Given the description of an element on the screen output the (x, y) to click on. 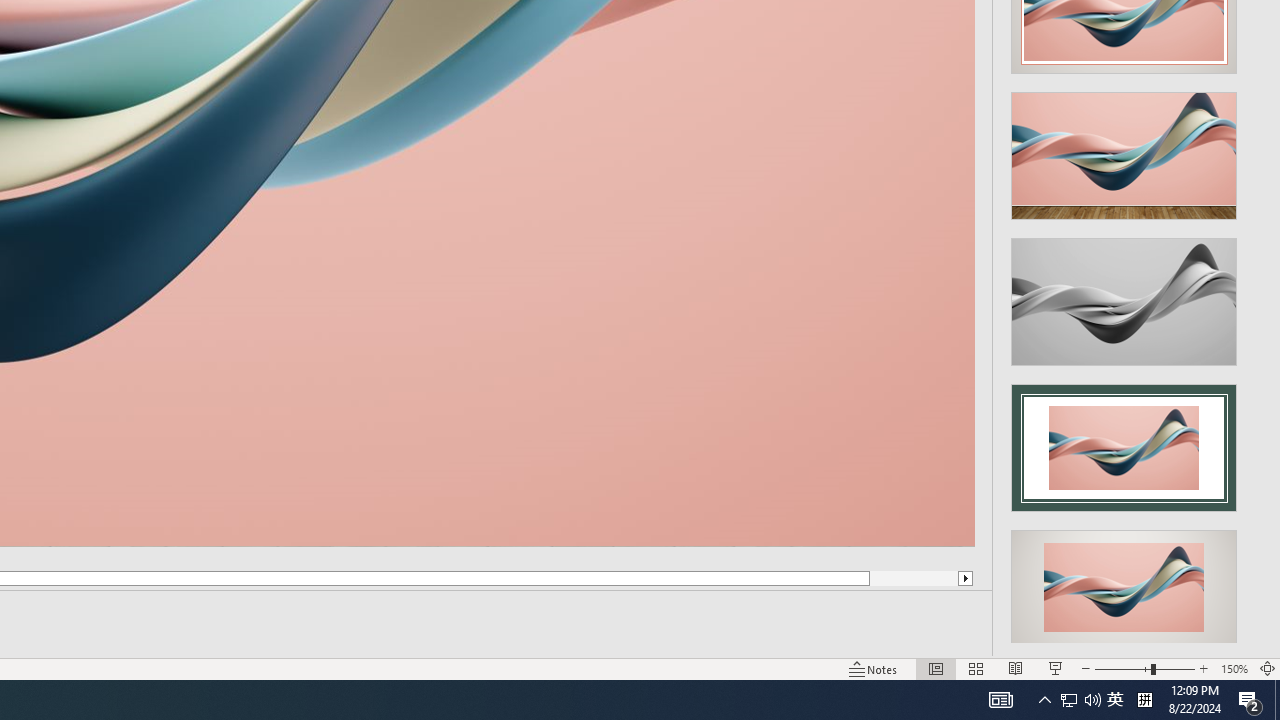
Design Idea (1124, 587)
Zoom 150% (1234, 668)
